Given the description of an element on the screen output the (x, y) to click on. 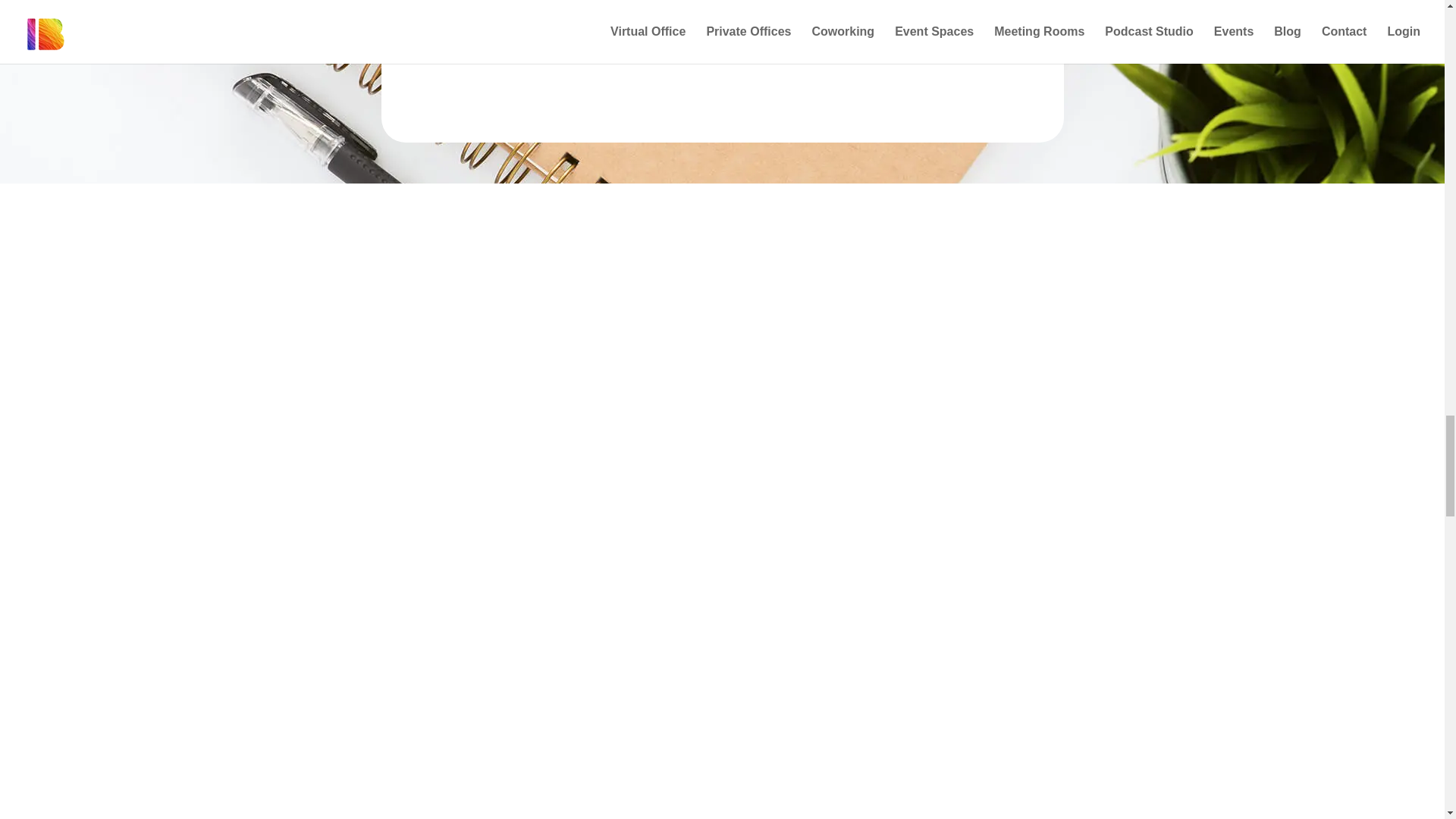
sign up to our newsletter (690, 29)
